Given the description of an element on the screen output the (x, y) to click on. 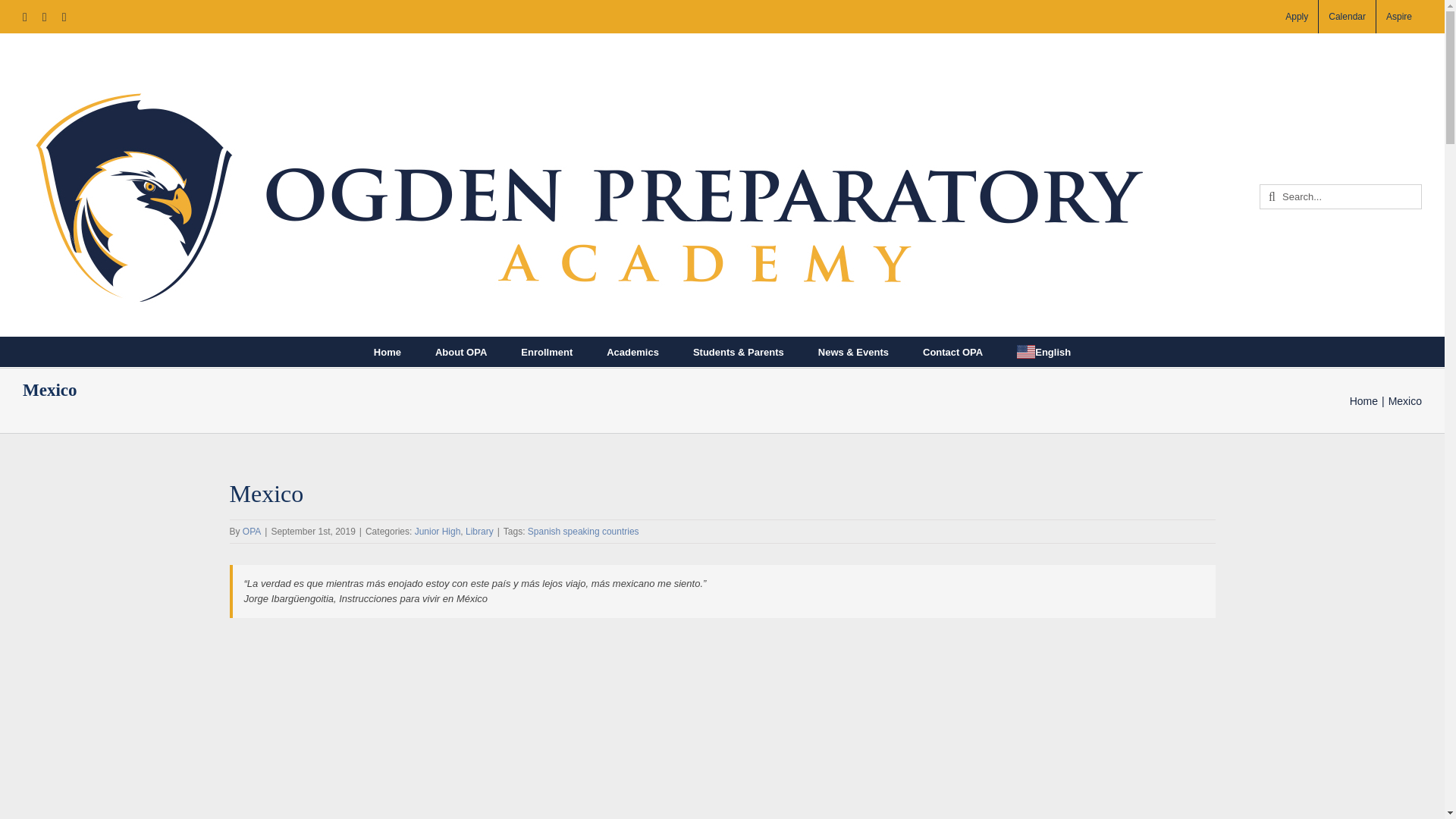
Enrollment (546, 351)
About OPA (460, 351)
Apply (1296, 16)
Calendar (1347, 16)
Home (387, 351)
Posts by OPA (251, 531)
Aspire (1398, 16)
